Given the description of an element on the screen output the (x, y) to click on. 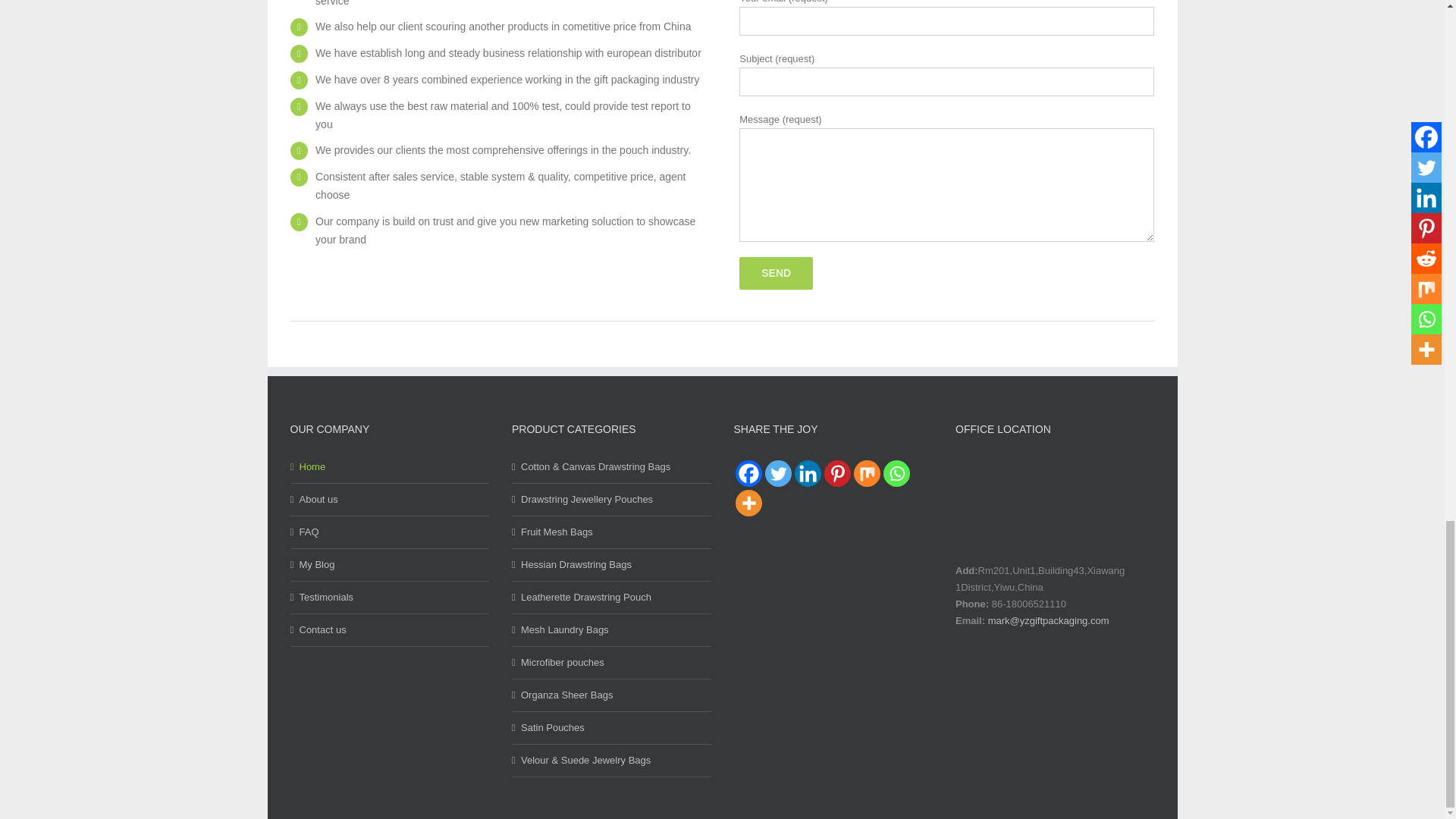
Twitter (777, 473)
Facebook (748, 473)
send (775, 273)
